Given the description of an element on the screen output the (x, y) to click on. 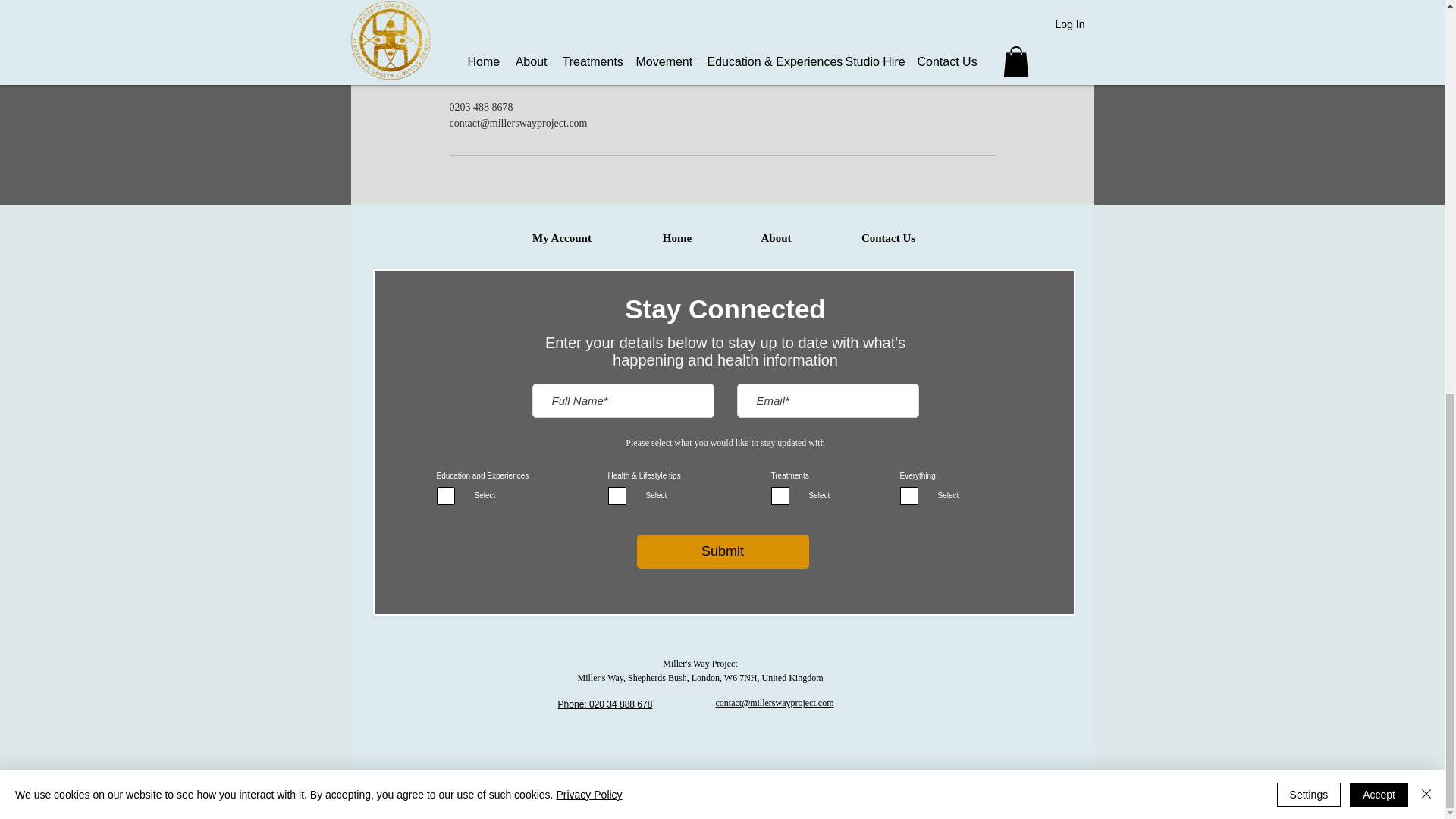
Privacy Policy (588, 37)
Settings (1308, 37)
Privacy Policy (689, 798)
My Account (561, 237)
Accept (1378, 37)
Home (676, 237)
Cookie Policy (752, 798)
About (775, 237)
Submit (723, 551)
Contact Us (887, 237)
Phone: 020 34 888 678 (604, 704)
